Given the description of an element on the screen output the (x, y) to click on. 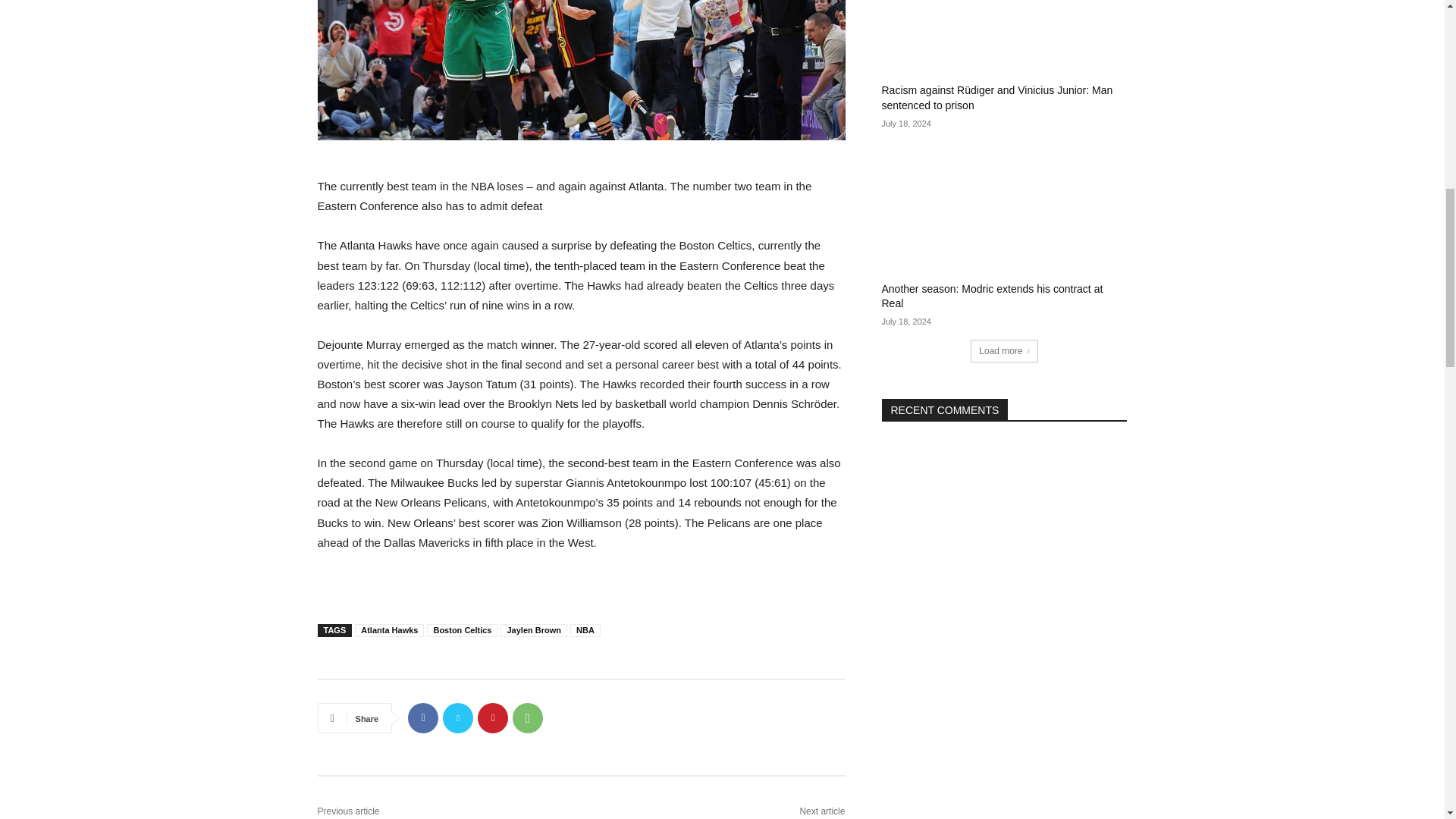
Celtics lose again against Atlanta Hawks (580, 70)
